Given the description of an element on the screen output the (x, y) to click on. 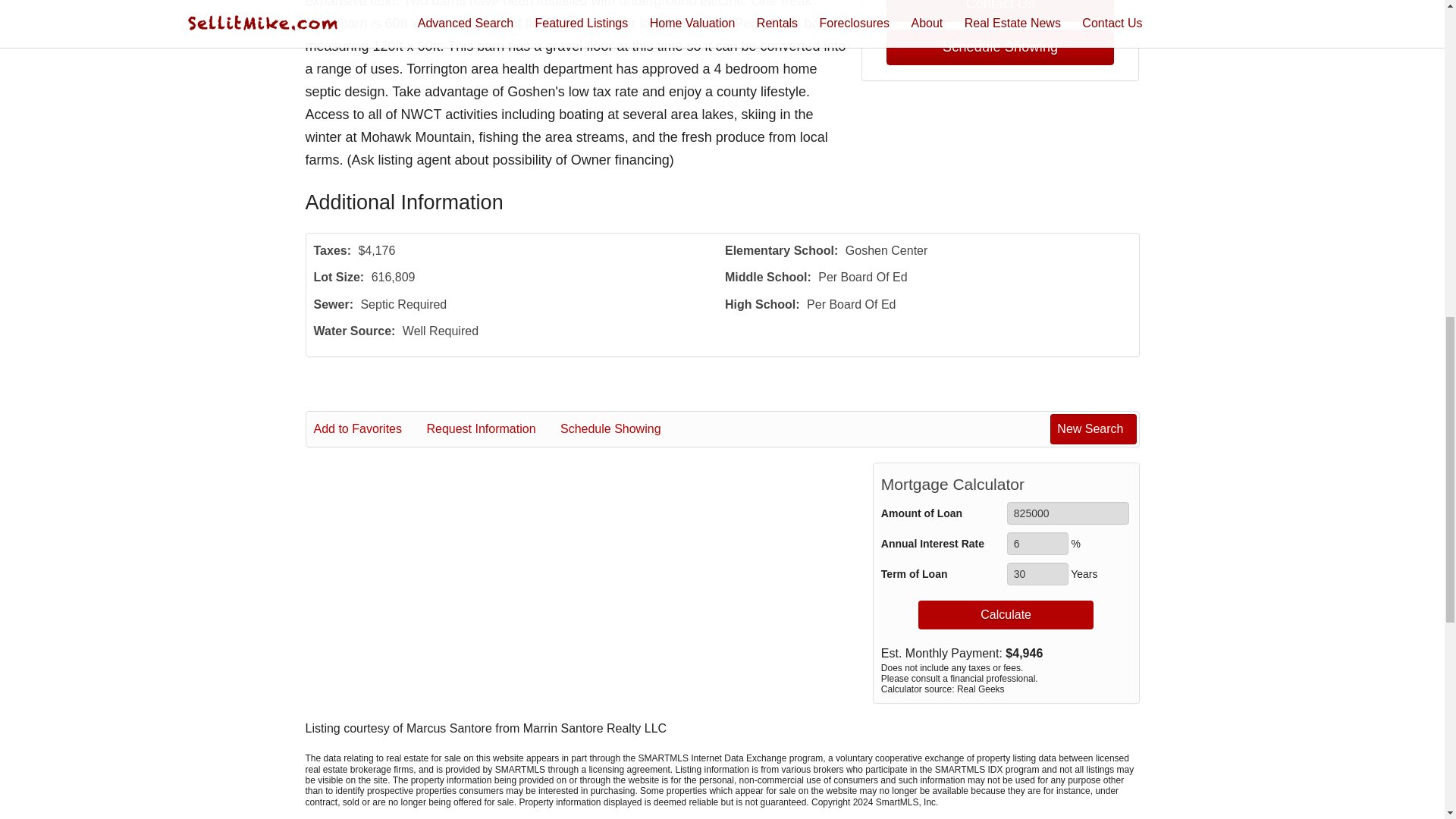
6 (1037, 543)
30 (1037, 573)
825000 (1068, 513)
